Given the description of an element on the screen output the (x, y) to click on. 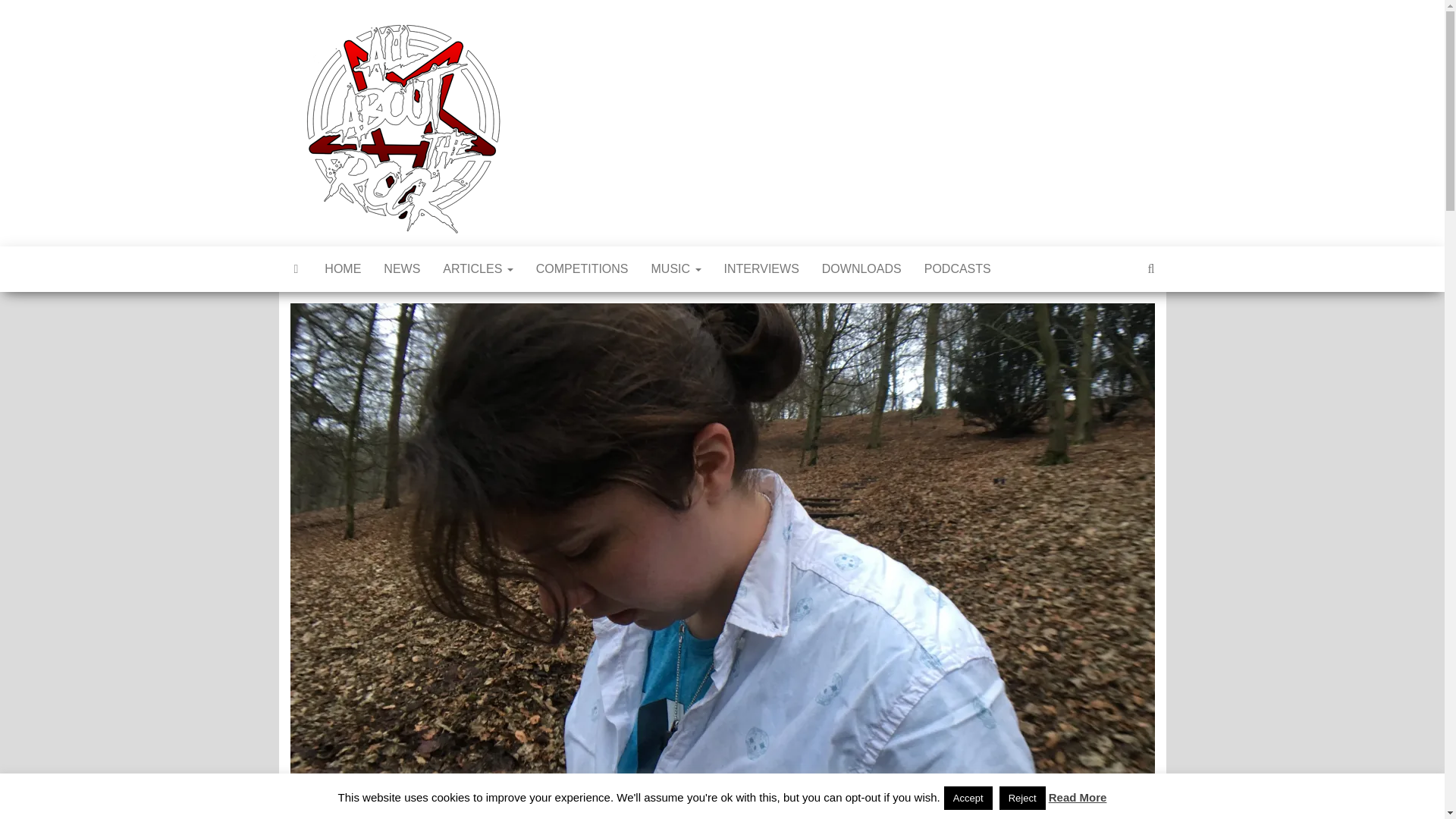
News (401, 268)
DOWNLOADS (861, 268)
HOME (342, 268)
Competitions (582, 268)
Interviews (761, 268)
COMPETITIONS (582, 268)
NEWS (401, 268)
ARTICLES (477, 268)
Home (342, 268)
Articles (477, 268)
PODCASTS (957, 268)
INTERVIEWS (761, 268)
Downloads (861, 268)
Music (676, 268)
MUSIC (676, 268)
